Given the description of an element on the screen output the (x, y) to click on. 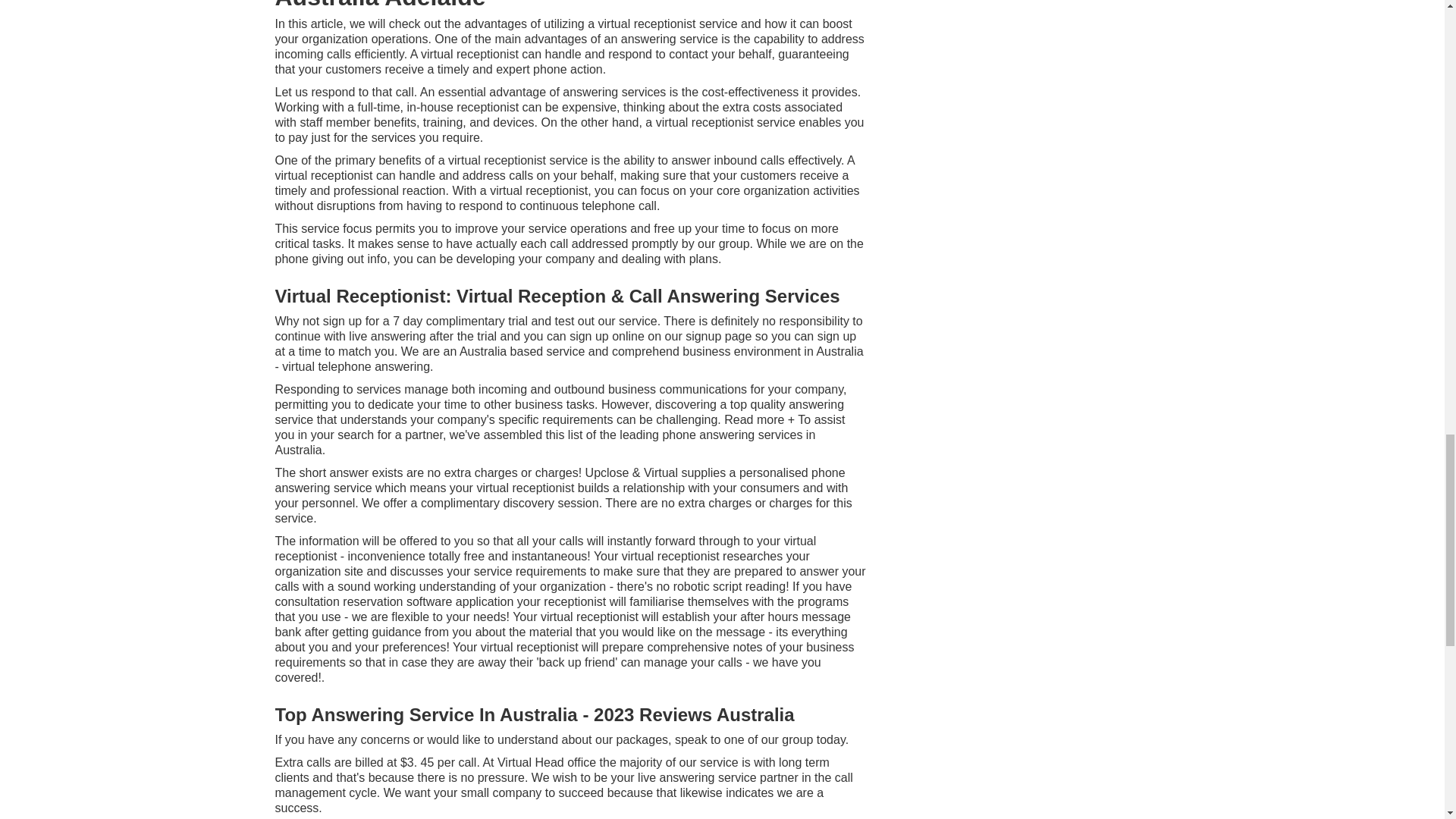
7 day complimentary trial (460, 320)
